Given the description of an element on the screen output the (x, y) to click on. 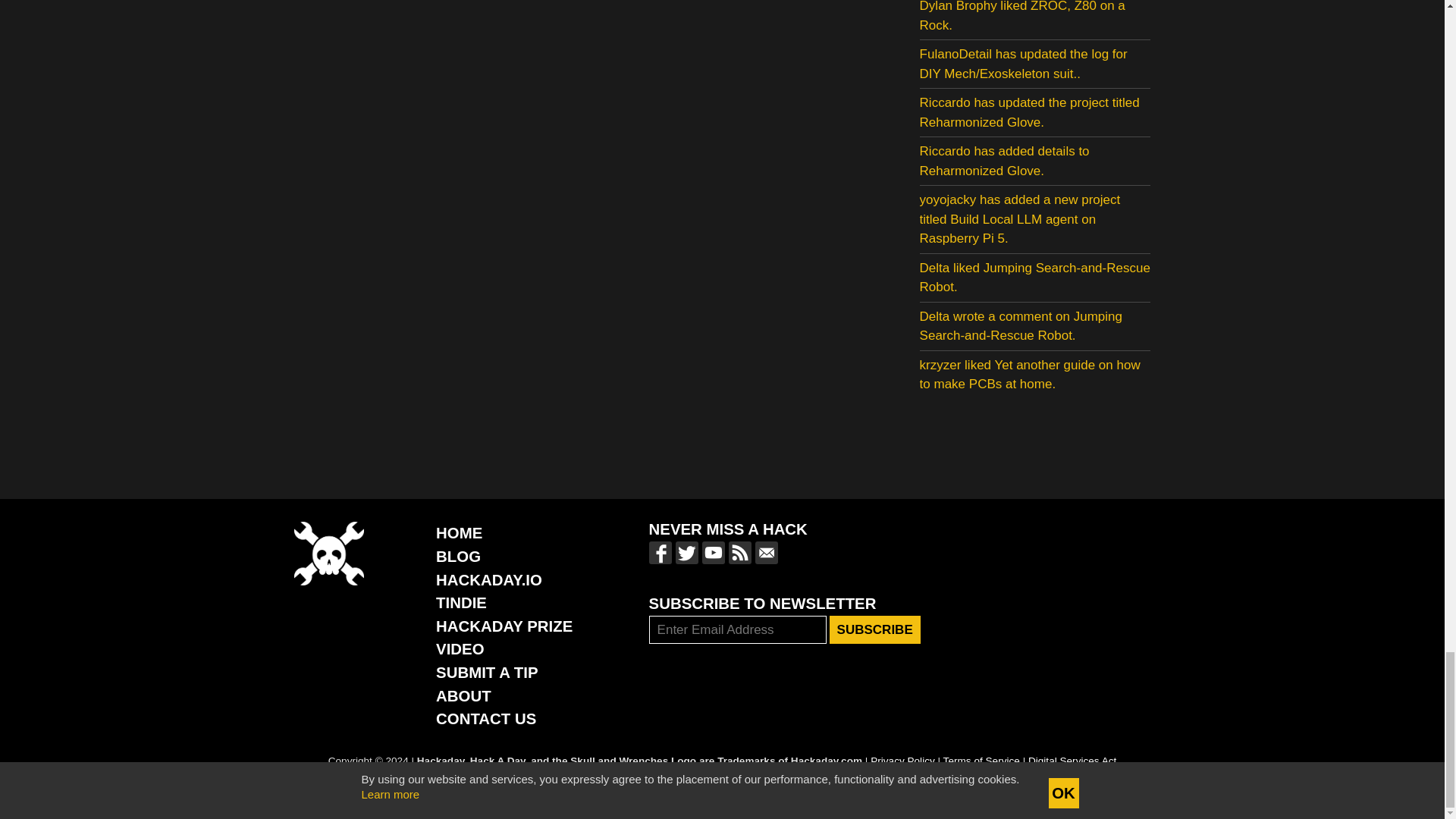
Build Something that Matters (503, 626)
Subscribe (874, 629)
